Given the description of an element on the screen output the (x, y) to click on. 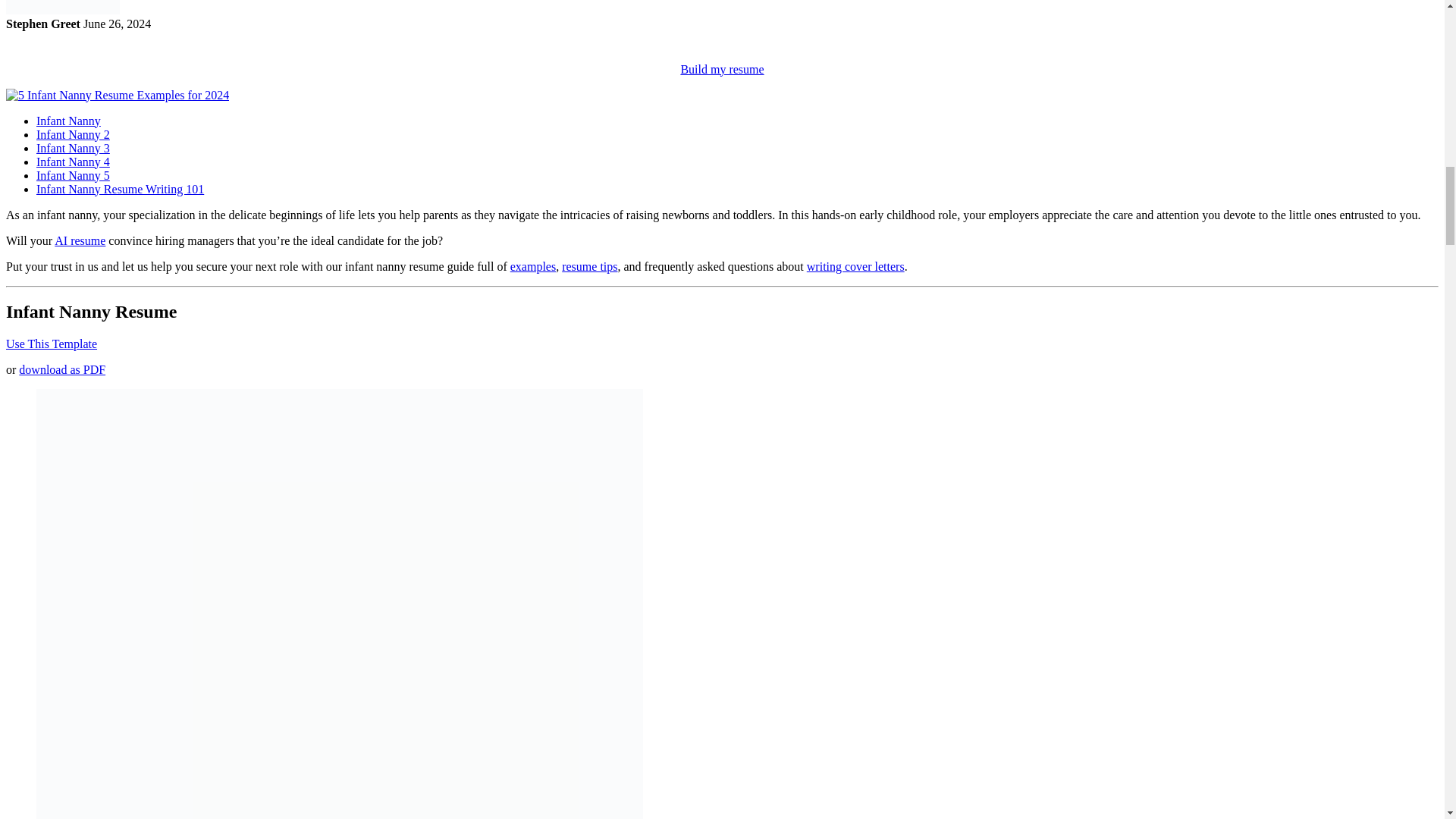
Infant Nanny 2 (73, 133)
Build my resume (720, 69)
Infant Nanny (68, 120)
Infant Nanny 4 (73, 161)
Infant Nanny 5 (73, 174)
Infant Nanny 3 (73, 147)
